Given the description of an element on the screen output the (x, y) to click on. 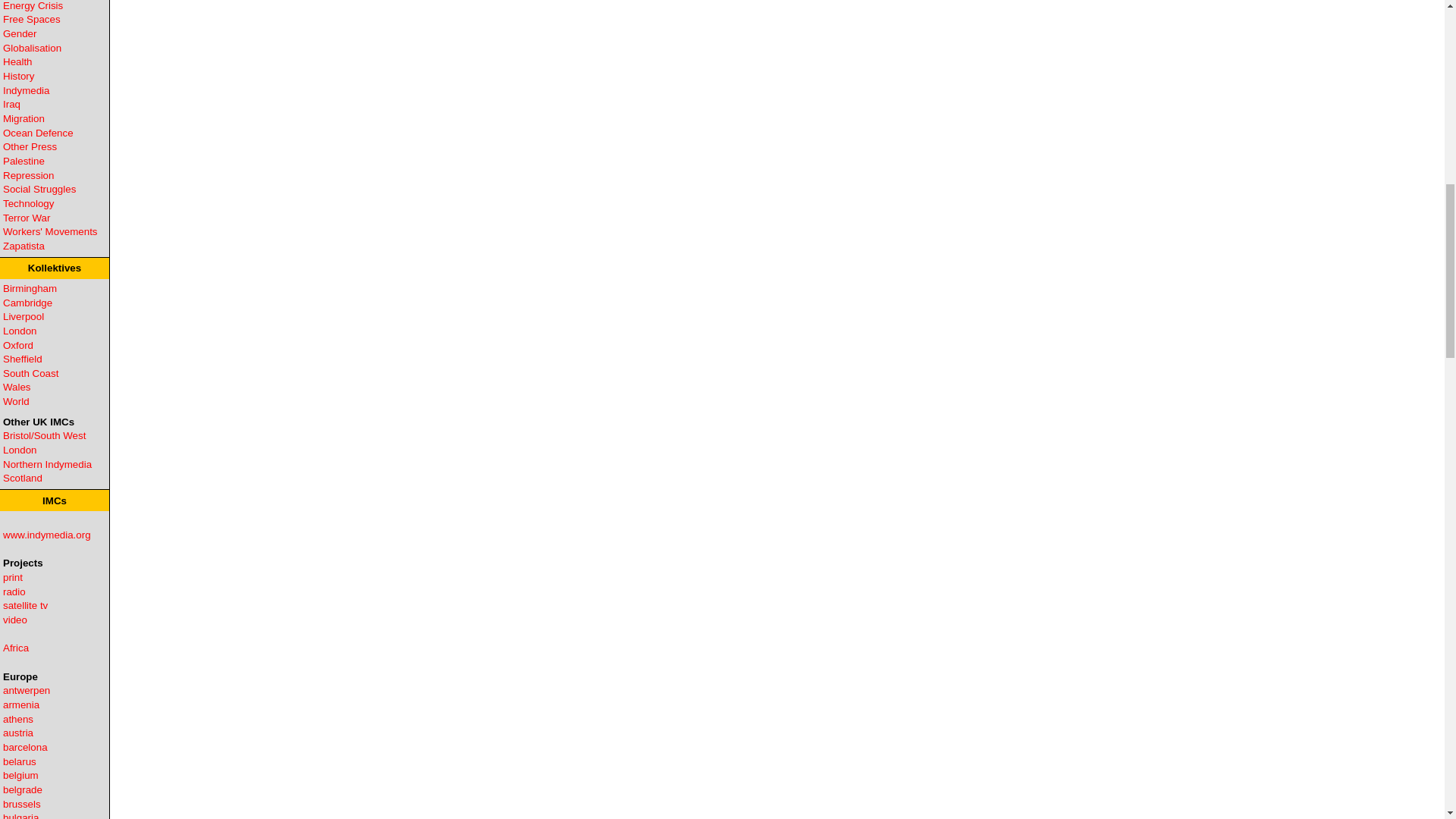
Sexuality and gender news. (19, 33)
Migration (23, 118)
Other Press (29, 146)
Health (17, 61)
Autonomous and free spaces news. (31, 19)
Ocean Defence (38, 132)
Health news. (17, 61)
Indymedia (25, 90)
Palestine (23, 161)
Iraq (11, 103)
